Given the description of an element on the screen output the (x, y) to click on. 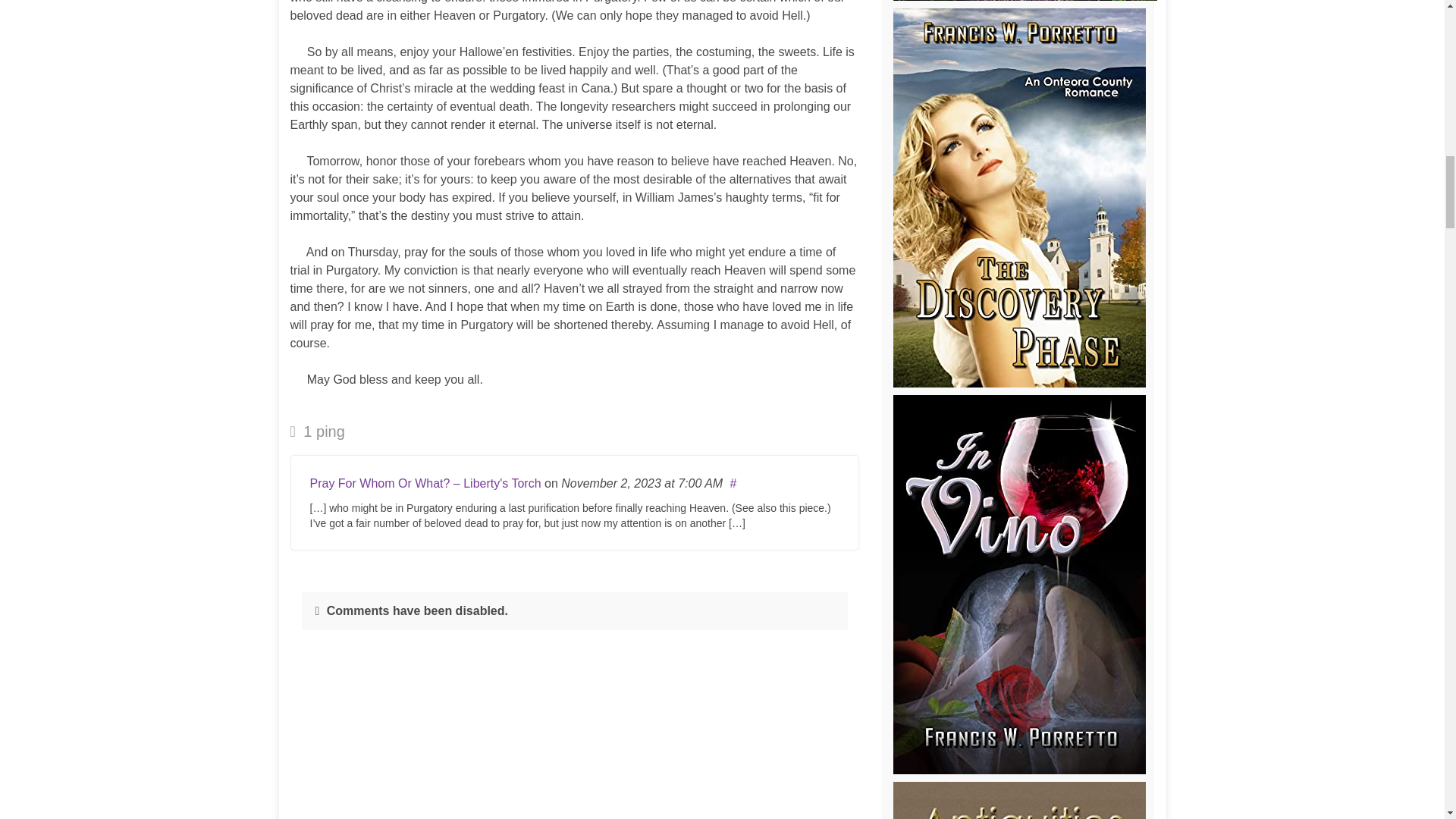
1 ping (316, 431)
